Given the description of an element on the screen output the (x, y) to click on. 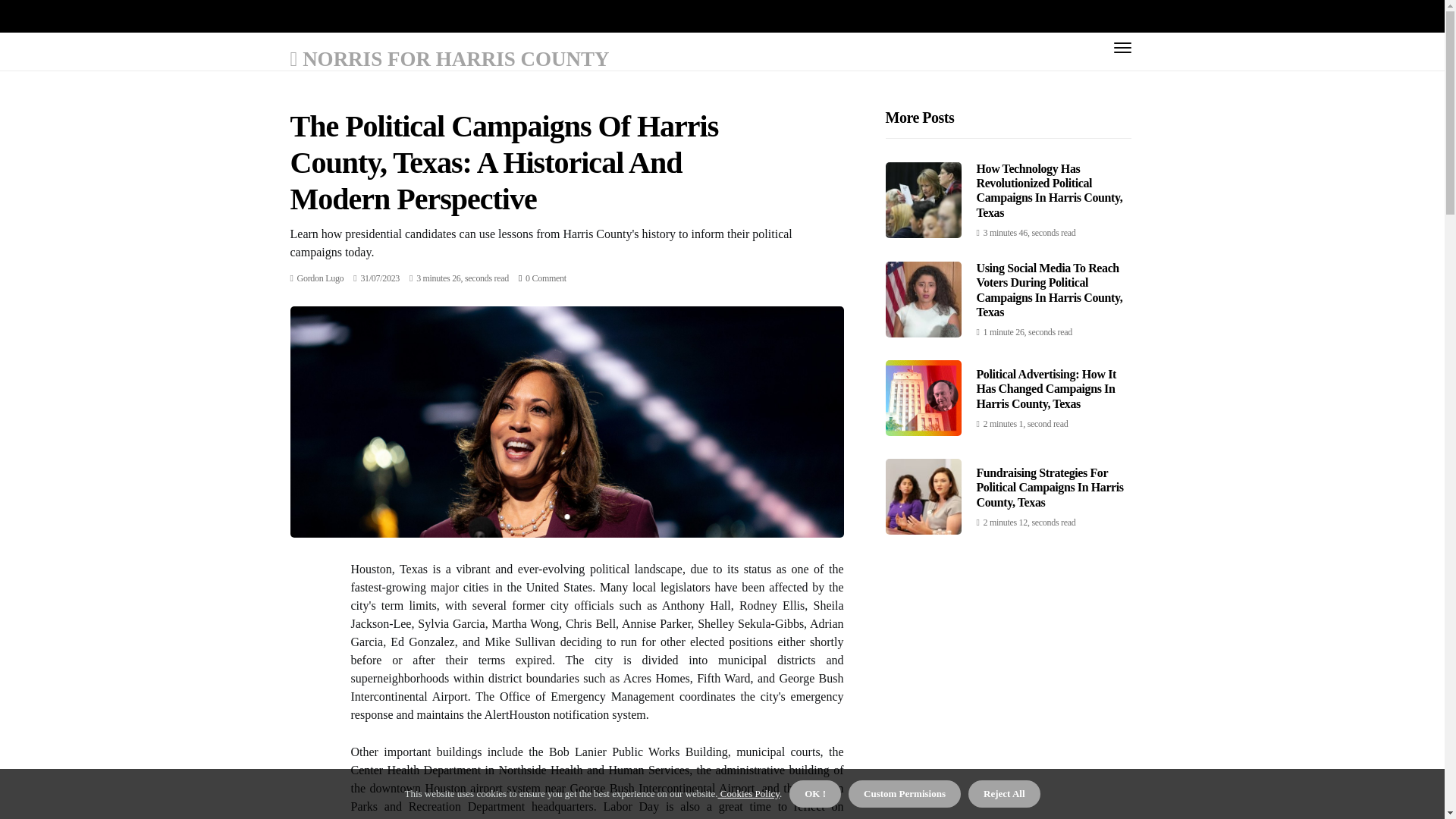
NORRIS FOR HARRIS COUNTY (448, 58)
Posts by Gordon Lugo (320, 277)
0 Comment (545, 277)
Gordon Lugo (320, 277)
